Given the description of an element on the screen output the (x, y) to click on. 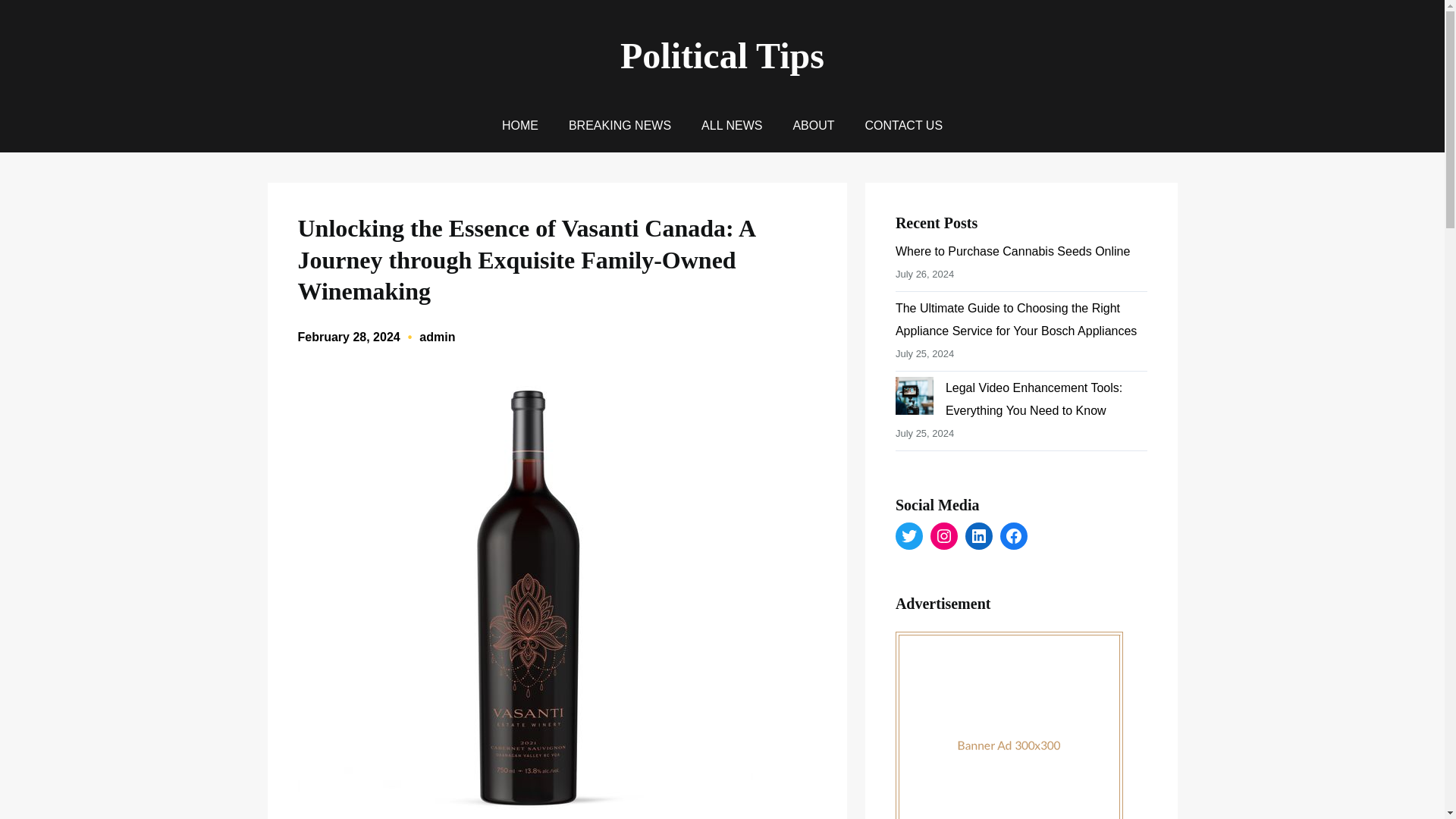
HOME (520, 125)
ALL NEWS (731, 125)
Where to Purchase Cannabis Seeds Online (1013, 250)
ABOUT (813, 125)
Instagram (944, 535)
BREAKING NEWS (620, 125)
Political Tips (722, 56)
admin (436, 336)
LinkedIn (978, 535)
Legal Video Enhancement Tools: Everything You Need to Know (1033, 398)
Facebook (1013, 535)
Twitter (909, 535)
CONTACT US (903, 125)
